Given the description of an element on the screen output the (x, y) to click on. 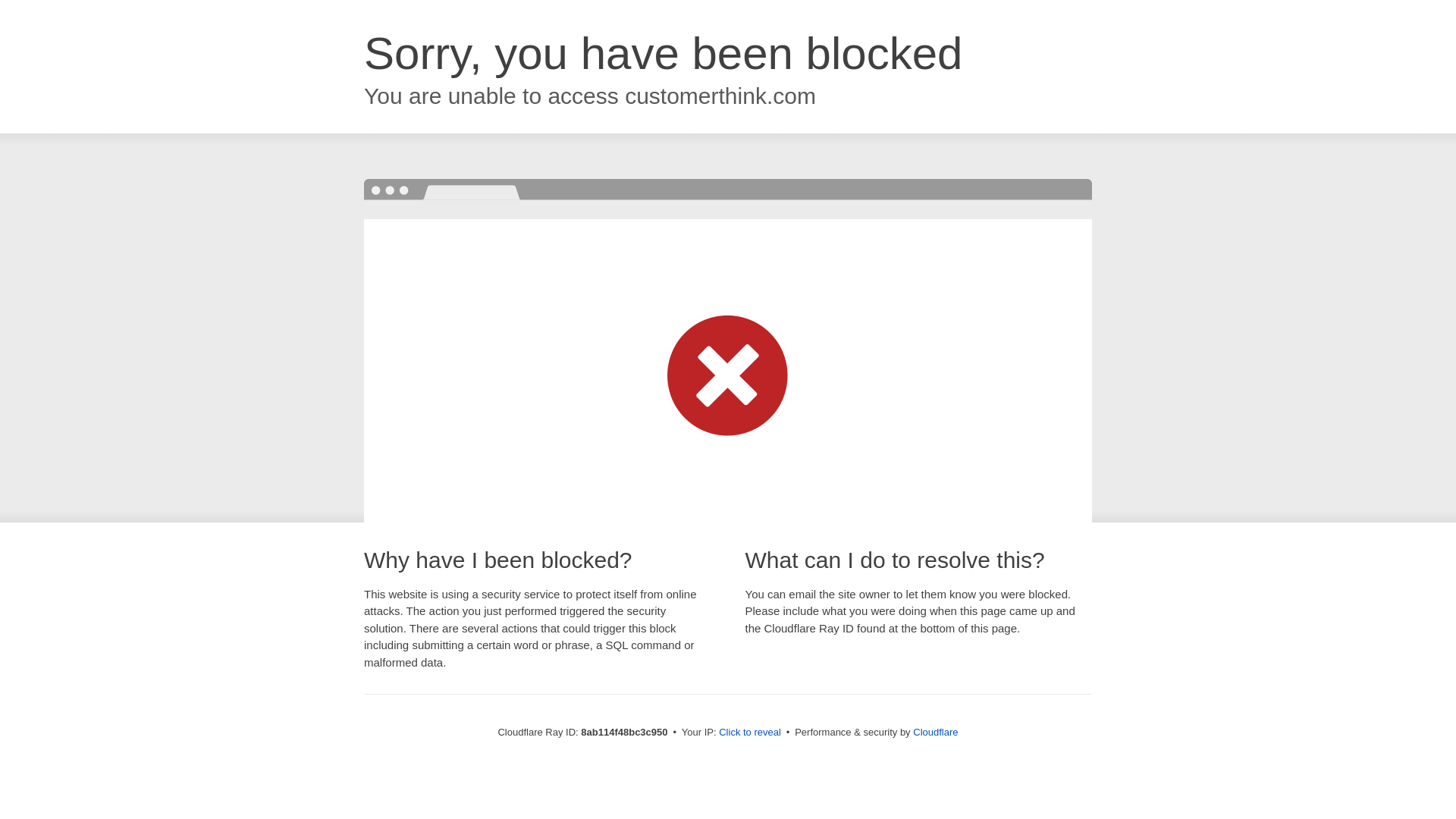
Click to reveal (749, 732)
Cloudflare (935, 731)
